Given the description of an element on the screen output the (x, y) to click on. 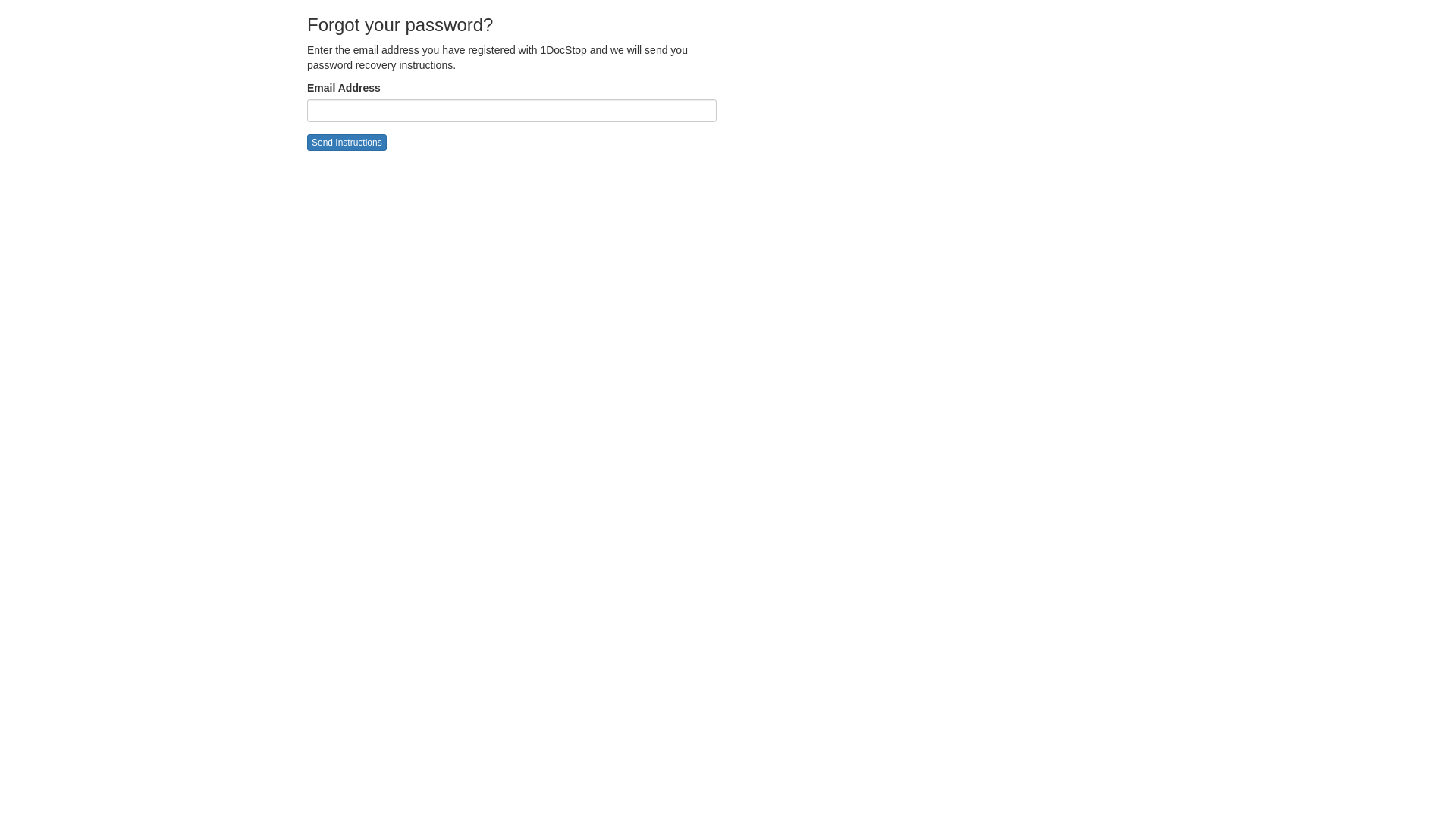
Send Instructions Element type: text (346, 142)
